Given the description of an element on the screen output the (x, y) to click on. 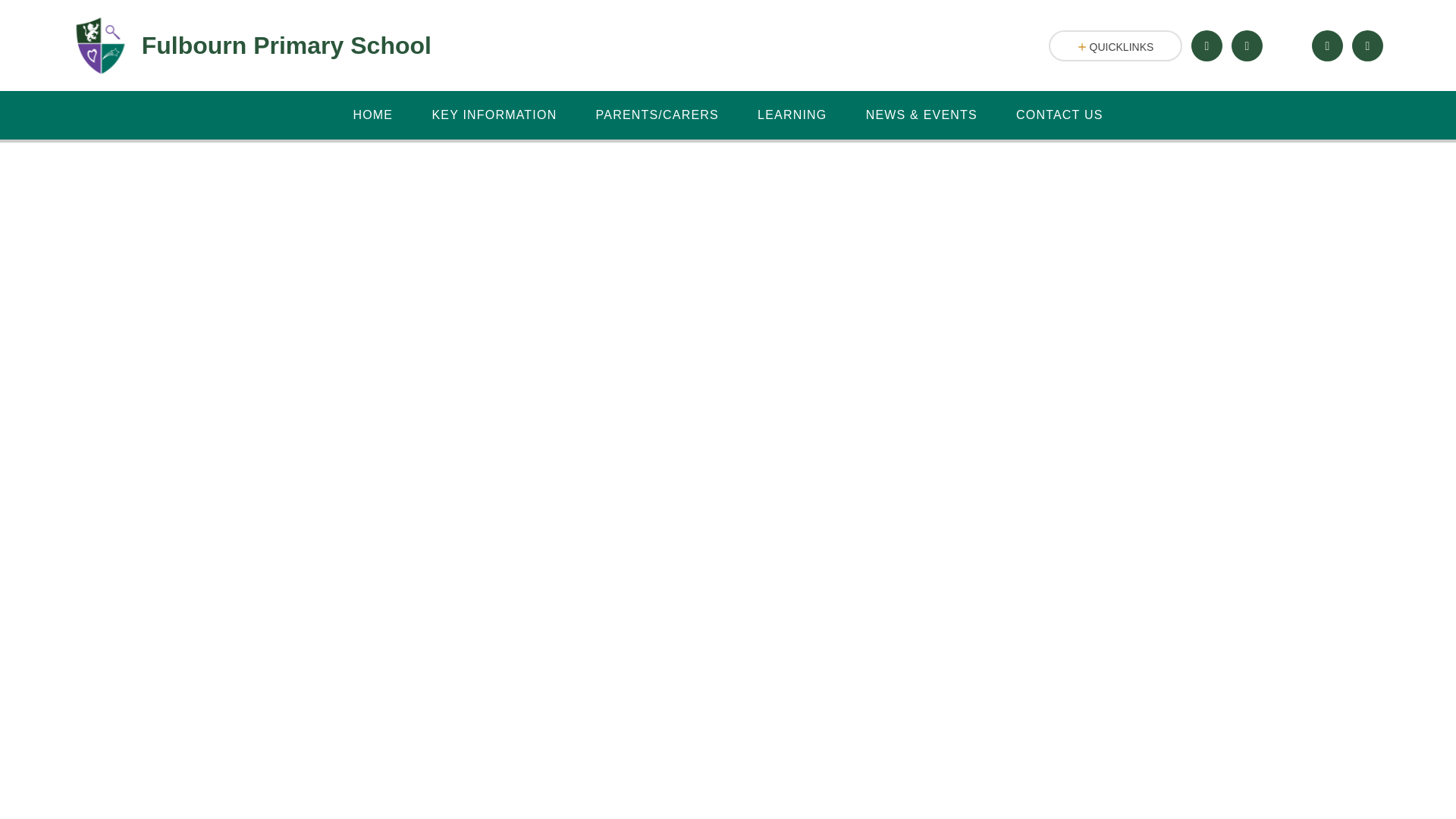
Fulbourn Primary School (251, 45)
KEY INFORMATION (494, 114)
HOME (372, 114)
